Given the description of an element on the screen output the (x, y) to click on. 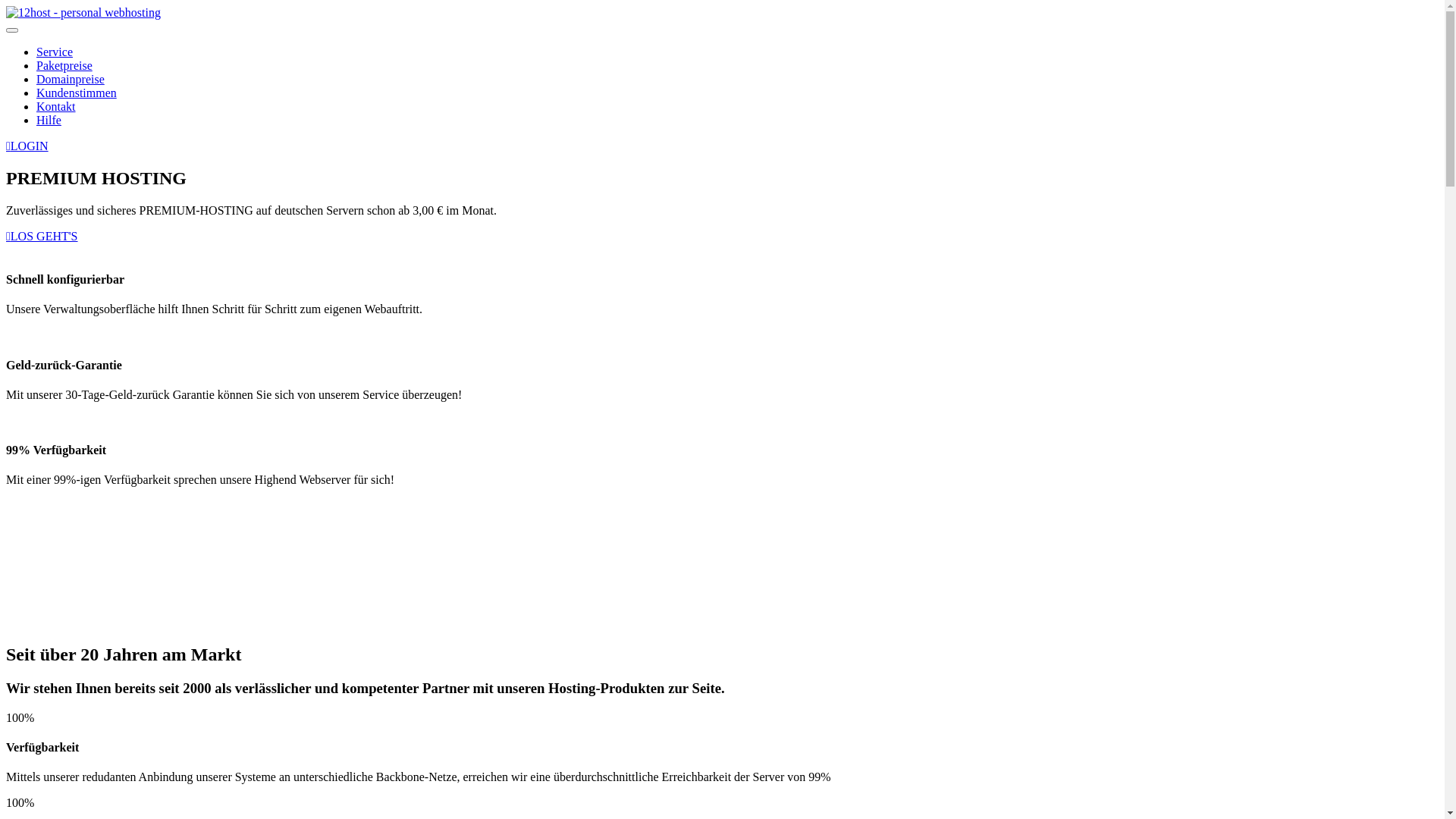
Kundenstimmen Element type: text (76, 92)
Hilfe Element type: text (48, 119)
Kontakt Element type: text (55, 106)
LOGIN Element type: text (27, 145)
Domainpreise Element type: text (70, 78)
LOS GEHT'S Element type: text (42, 235)
Paketpreise Element type: text (64, 65)
Service Element type: text (54, 51)
